Given the description of an element on the screen output the (x, y) to click on. 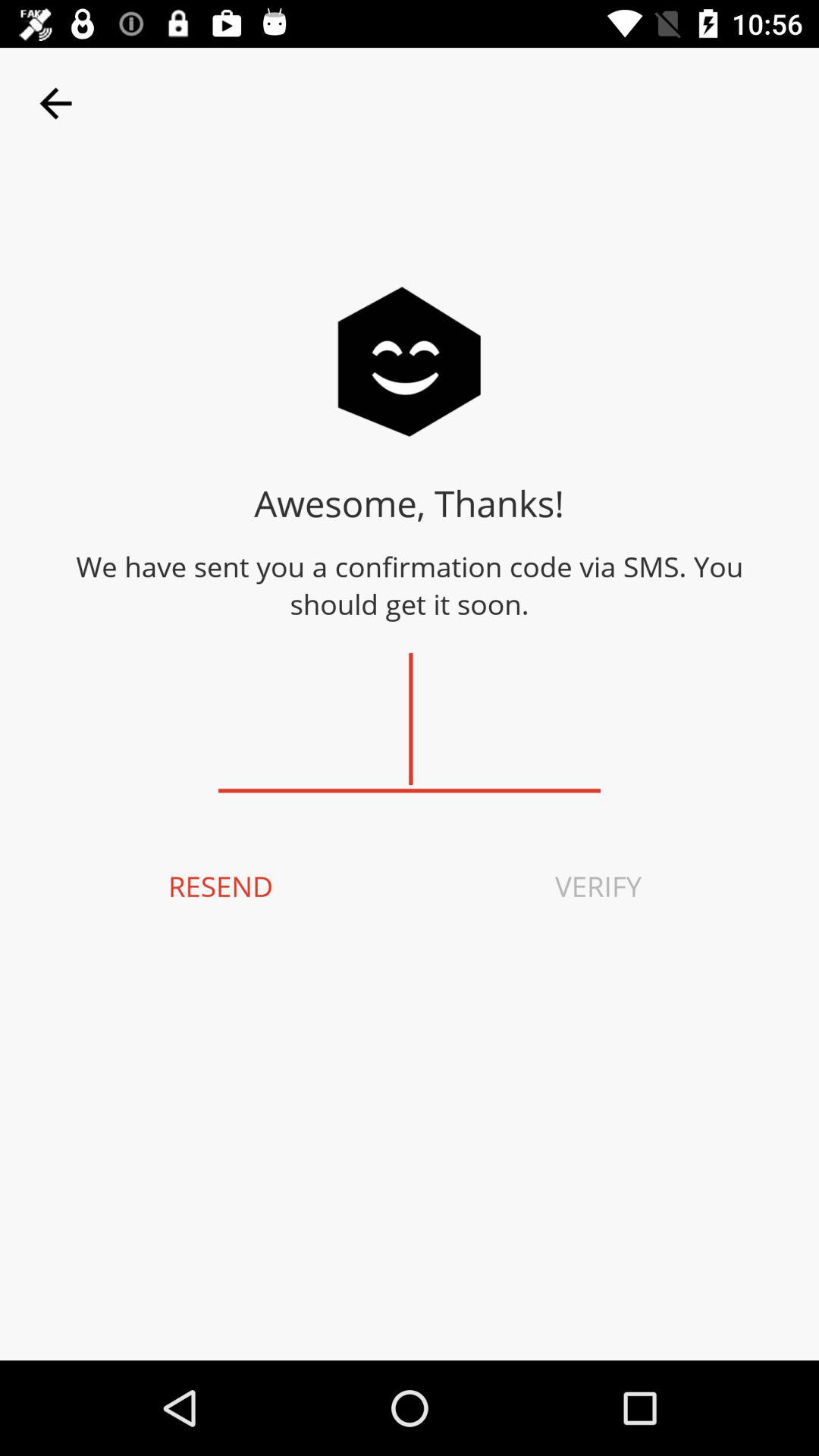
confirmation code (409, 719)
